Given the description of an element on the screen output the (x, y) to click on. 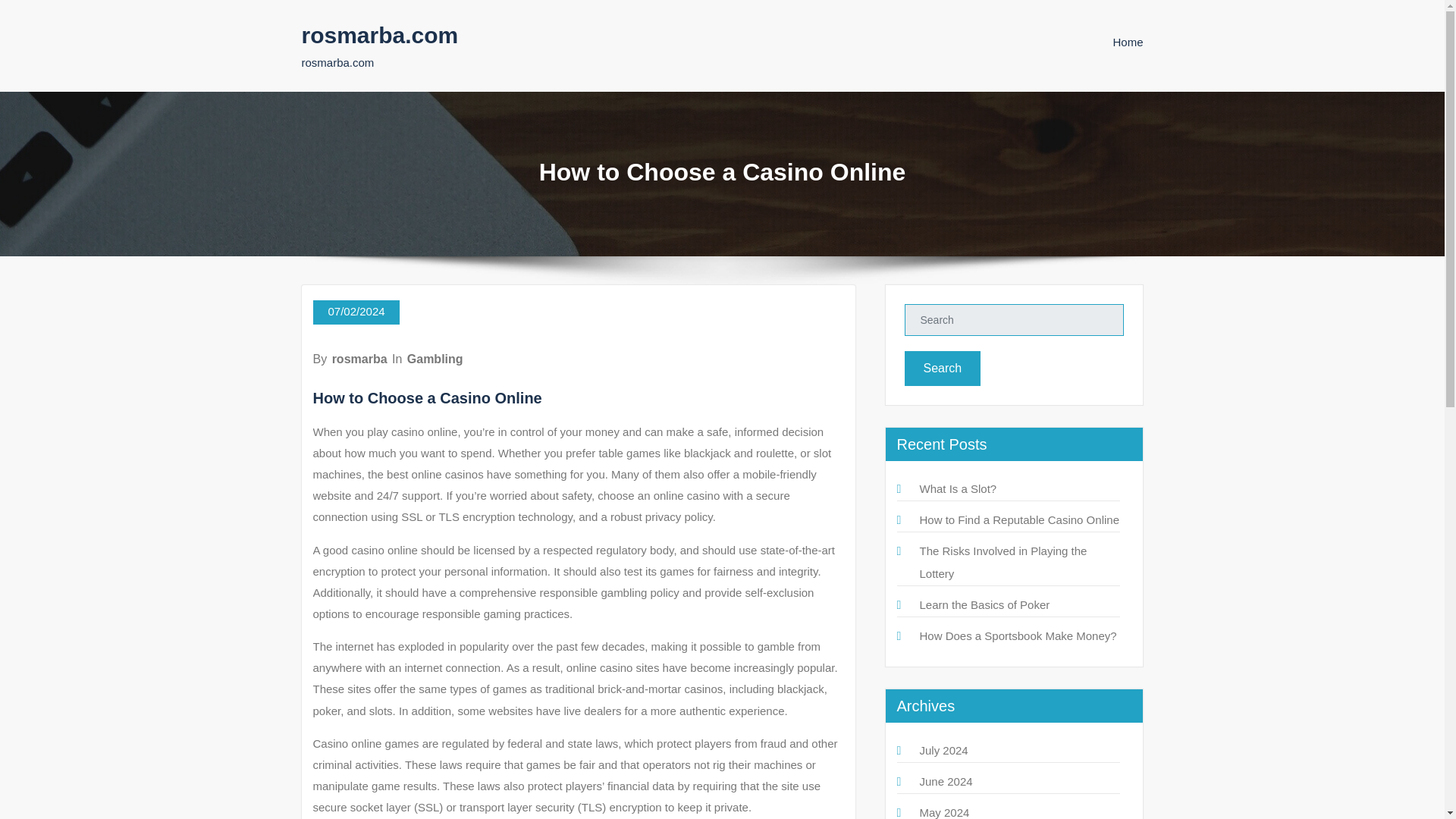
Home (1127, 41)
What Is a Slot? (956, 488)
Search (941, 368)
July 2024 (943, 749)
How to Find a Reputable Casino Online (1018, 519)
Home (1127, 41)
Gambling (435, 358)
rosmarba (359, 358)
May 2024 (943, 812)
Learn the Basics of Poker (983, 604)
June 2024 (945, 780)
The Risks Involved in Playing the Lottery (1002, 561)
How Does a Sportsbook Make Money? (1017, 635)
rosmarba.com (379, 34)
